Given the description of an element on the screen output the (x, y) to click on. 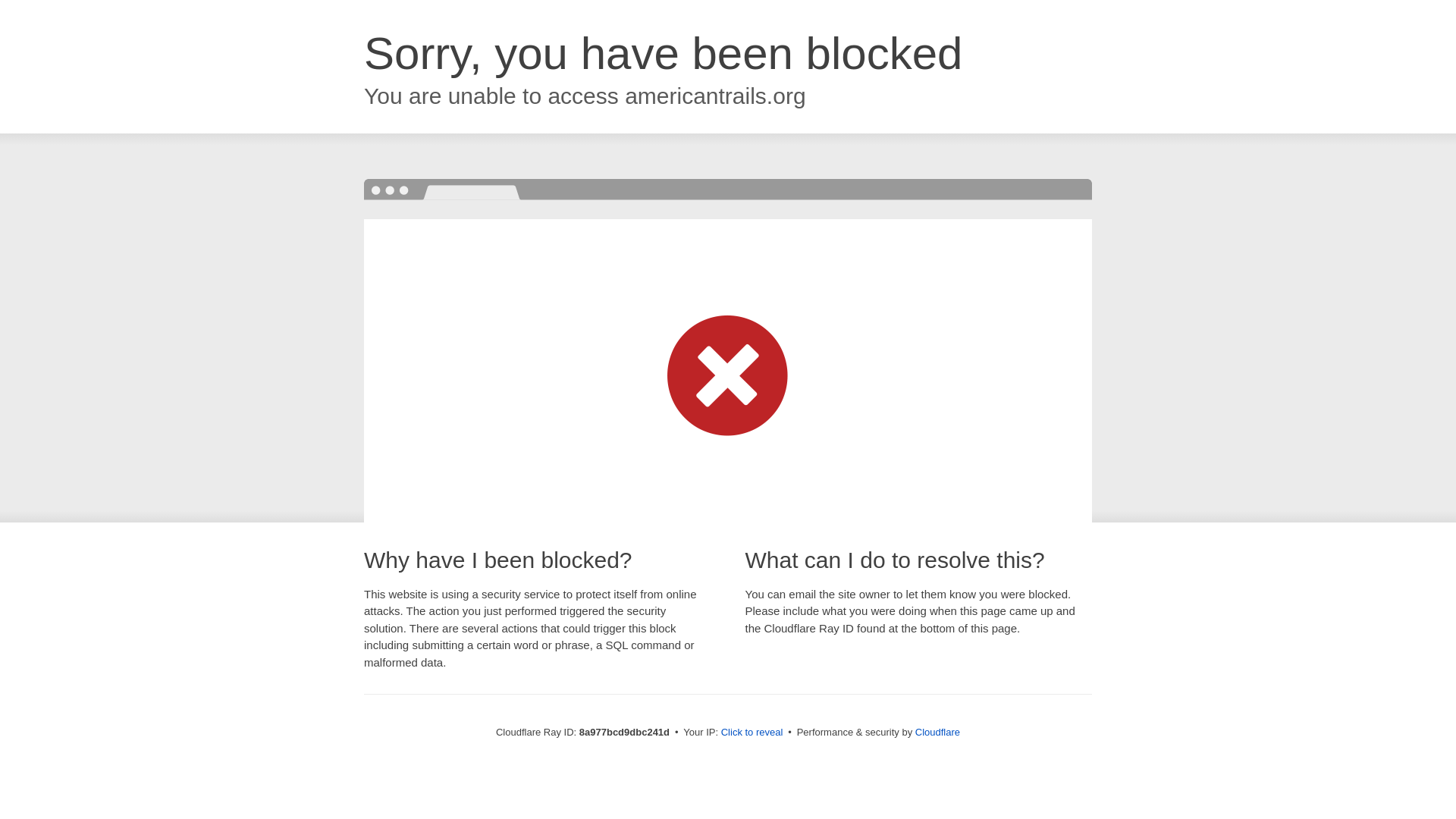
Click to reveal (751, 732)
Cloudflare (937, 731)
